Given the description of an element on the screen output the (x, y) to click on. 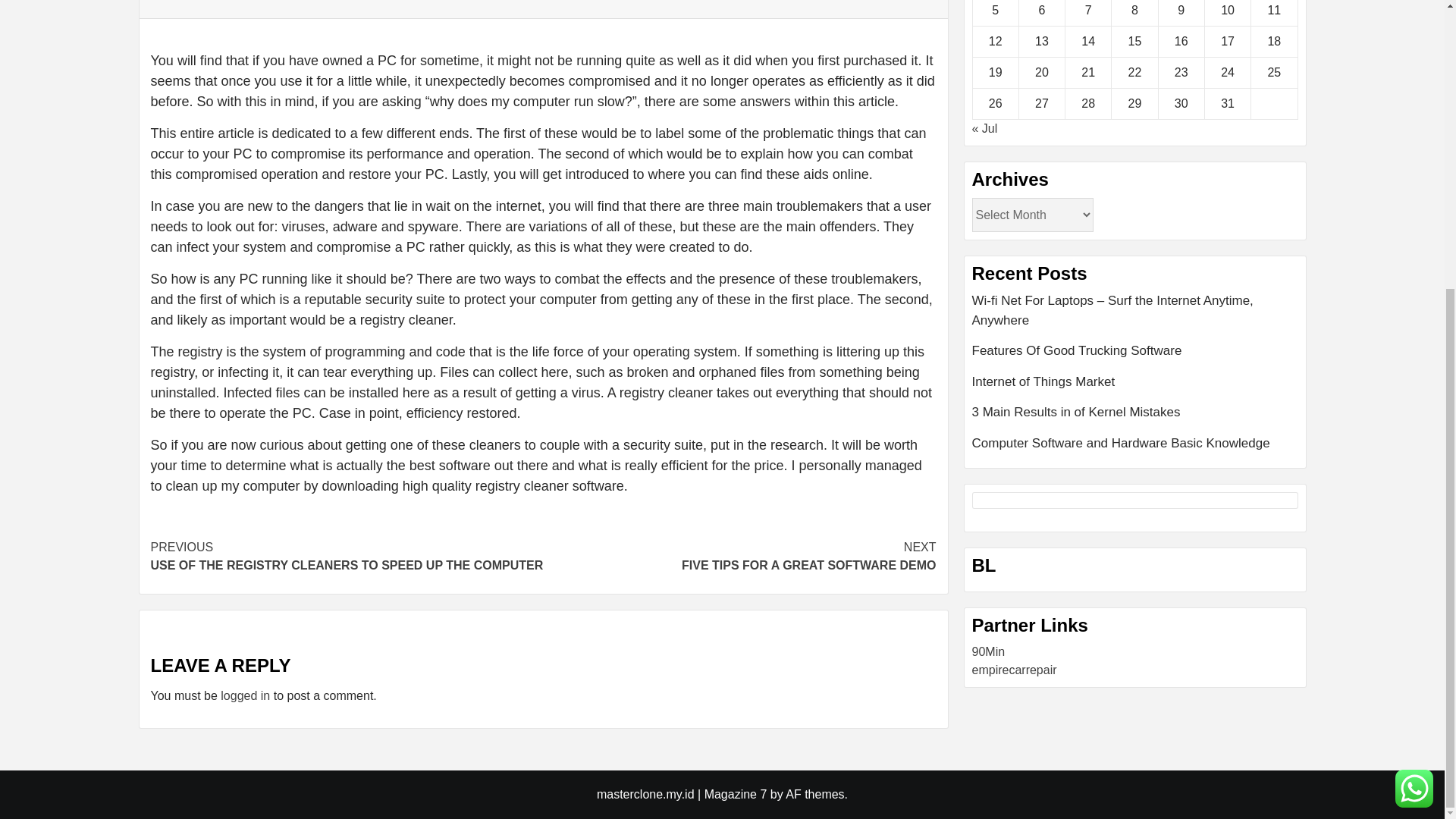
empirecarrepair (1014, 669)
Internet of Things Market (1135, 387)
Magazine 7 (735, 793)
90Min (989, 651)
logged in (739, 556)
Features Of Good Trucking Software (245, 695)
Computer Software and Hardware Basic Knowledge (1135, 356)
3 Main Results in of Kernel Mistakes (1135, 443)
